Given the description of an element on the screen output the (x, y) to click on. 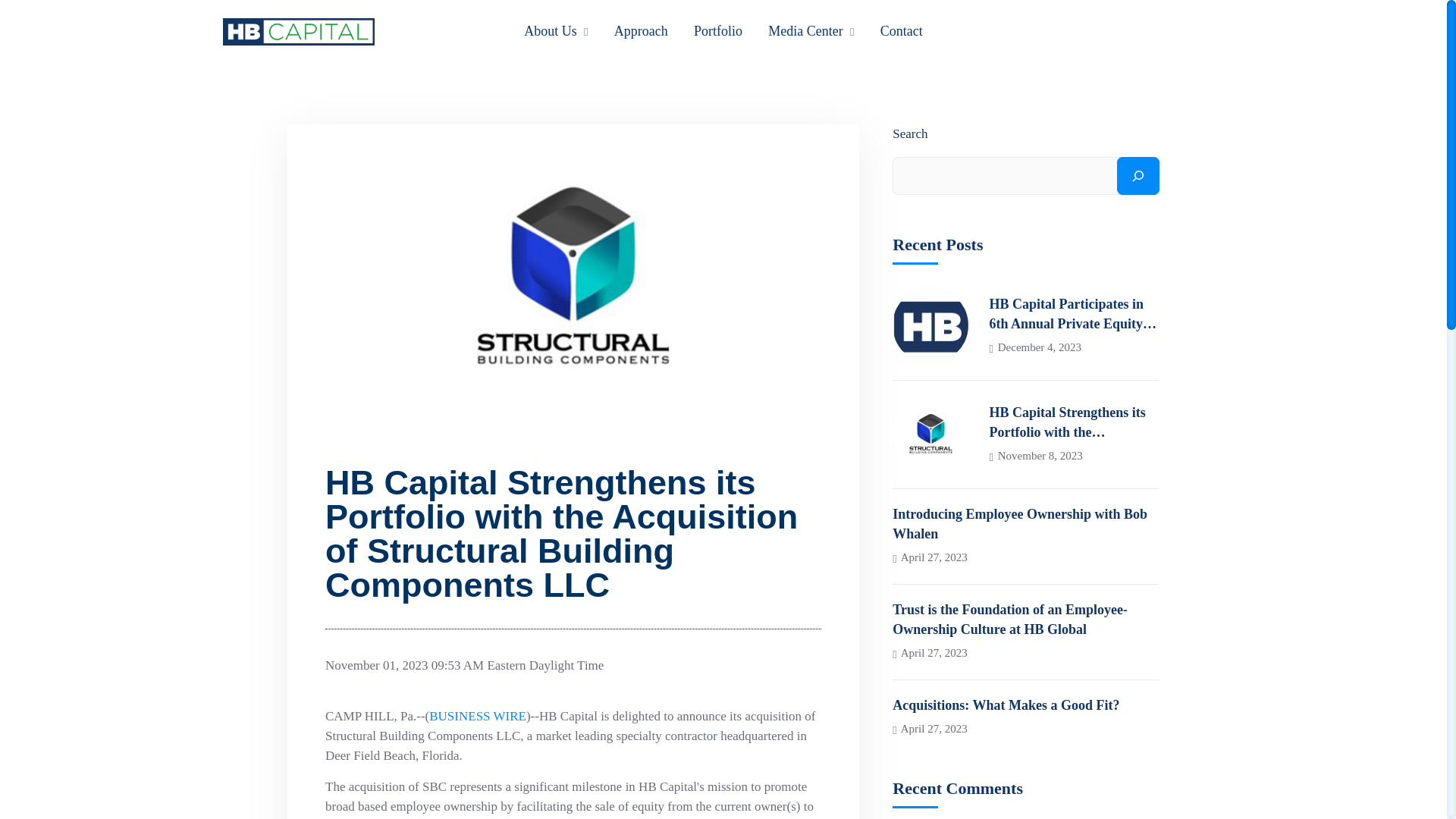
Media Center (805, 31)
Contact (901, 31)
Portfolio (718, 31)
Introducing Employee Ownership with Bob Whalen (1025, 523)
BUSINESS WIRE (477, 716)
About Us (550, 31)
Approach (641, 31)
